Given the description of an element on the screen output the (x, y) to click on. 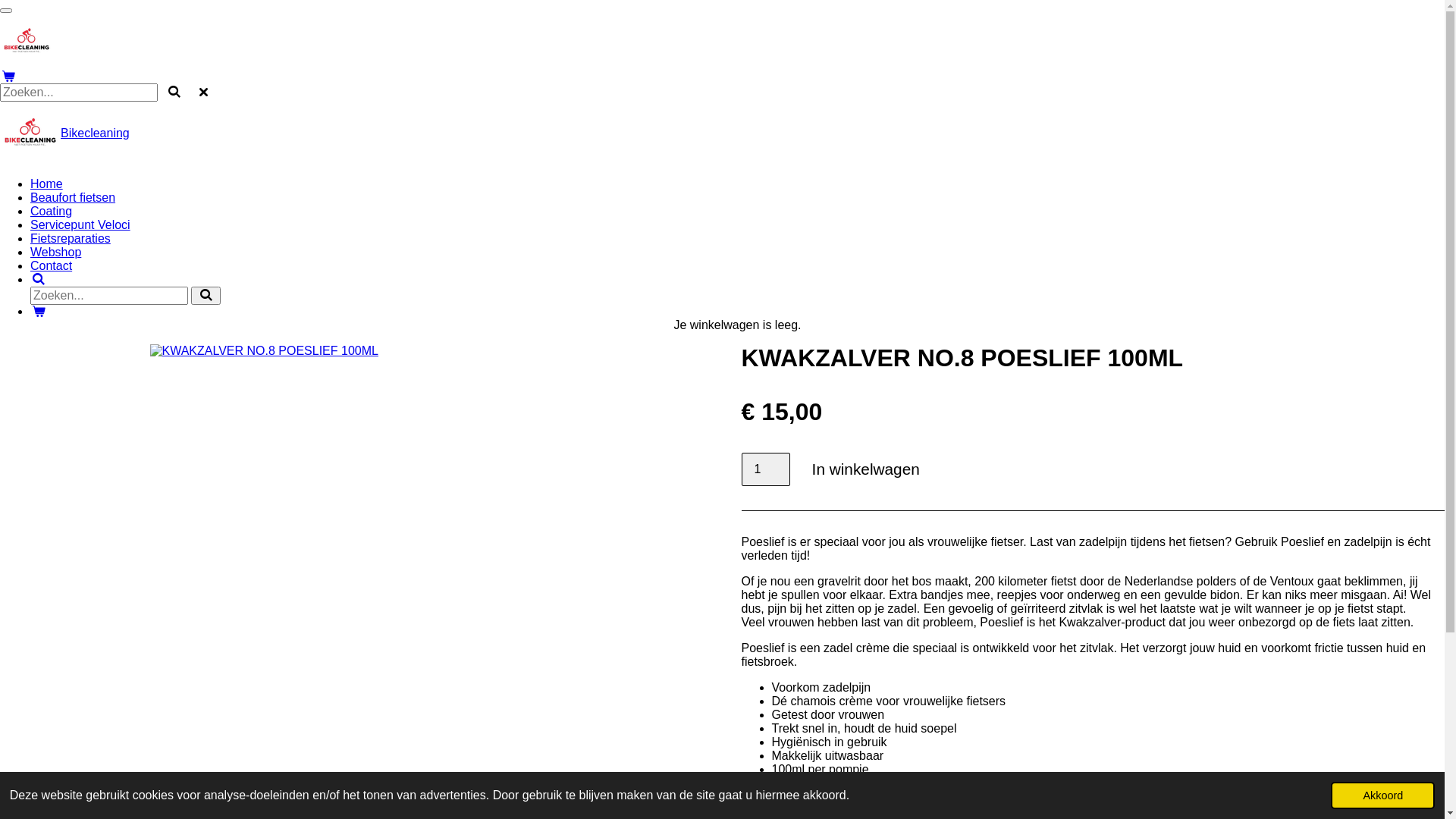
Fietsreparaties Element type: text (70, 238)
Bikecleaning Element type: text (94, 132)
Zoeken Element type: hover (38, 279)
Akkoord Element type: text (1382, 795)
Bikecleaning Element type: hover (30, 131)
Contact Element type: text (51, 265)
Webshop Element type: text (55, 251)
Bekijk winkelwagen Element type: hover (38, 310)
In winkelwagen Element type: text (865, 469)
Coating Element type: text (51, 210)
Servicepunt Veloci Element type: text (80, 224)
Bikecleaning Element type: hover (26, 39)
Home Element type: text (46, 183)
Beaufort fietsen Element type: text (72, 197)
